Given the description of an element on the screen output the (x, y) to click on. 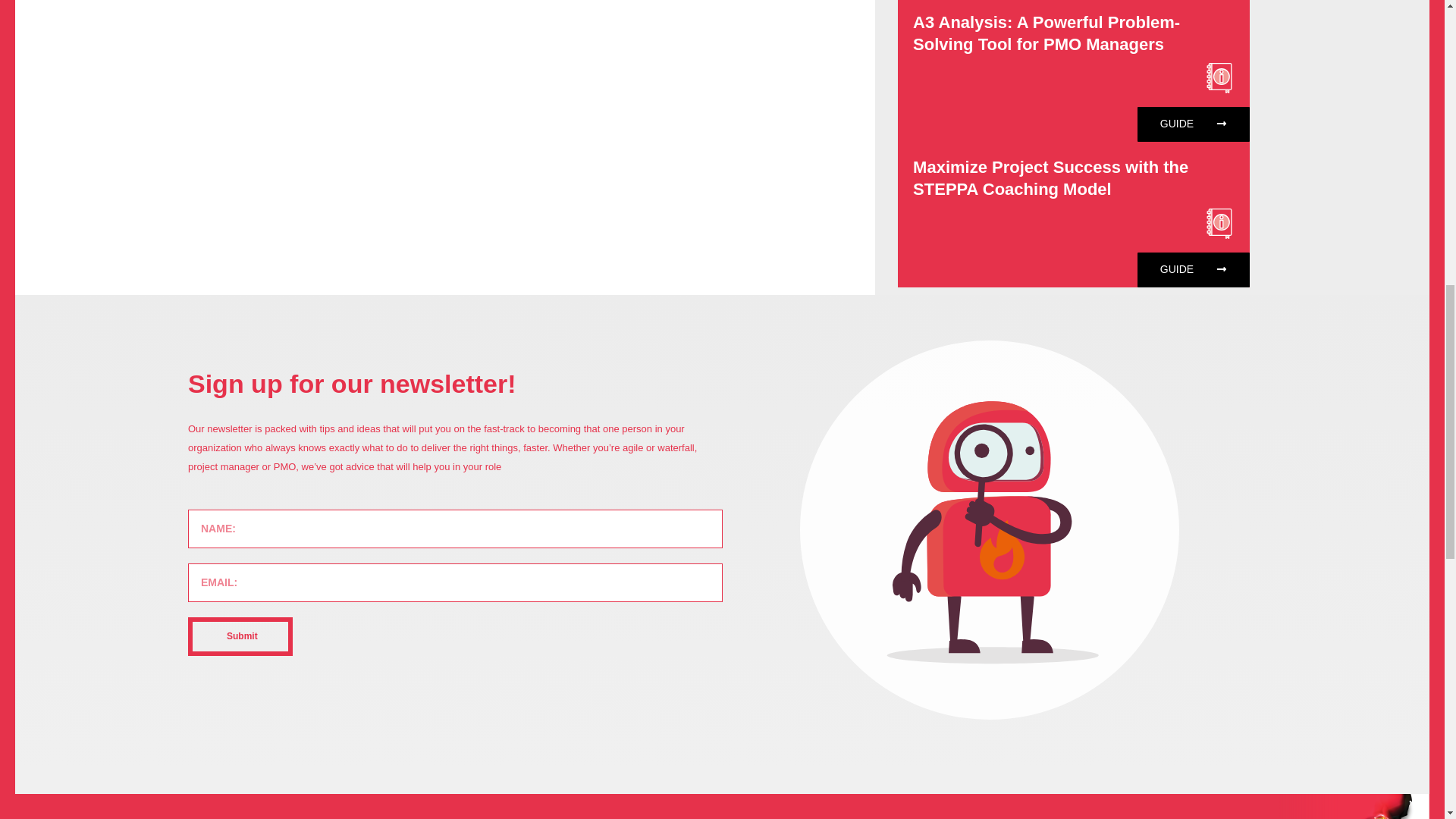
GUIDE (1193, 268)
Submit (239, 636)
Maximize Project Success with the STEPPA Coaching Model (1050, 178)
GUIDE (1193, 124)
